Given the description of an element on the screen output the (x, y) to click on. 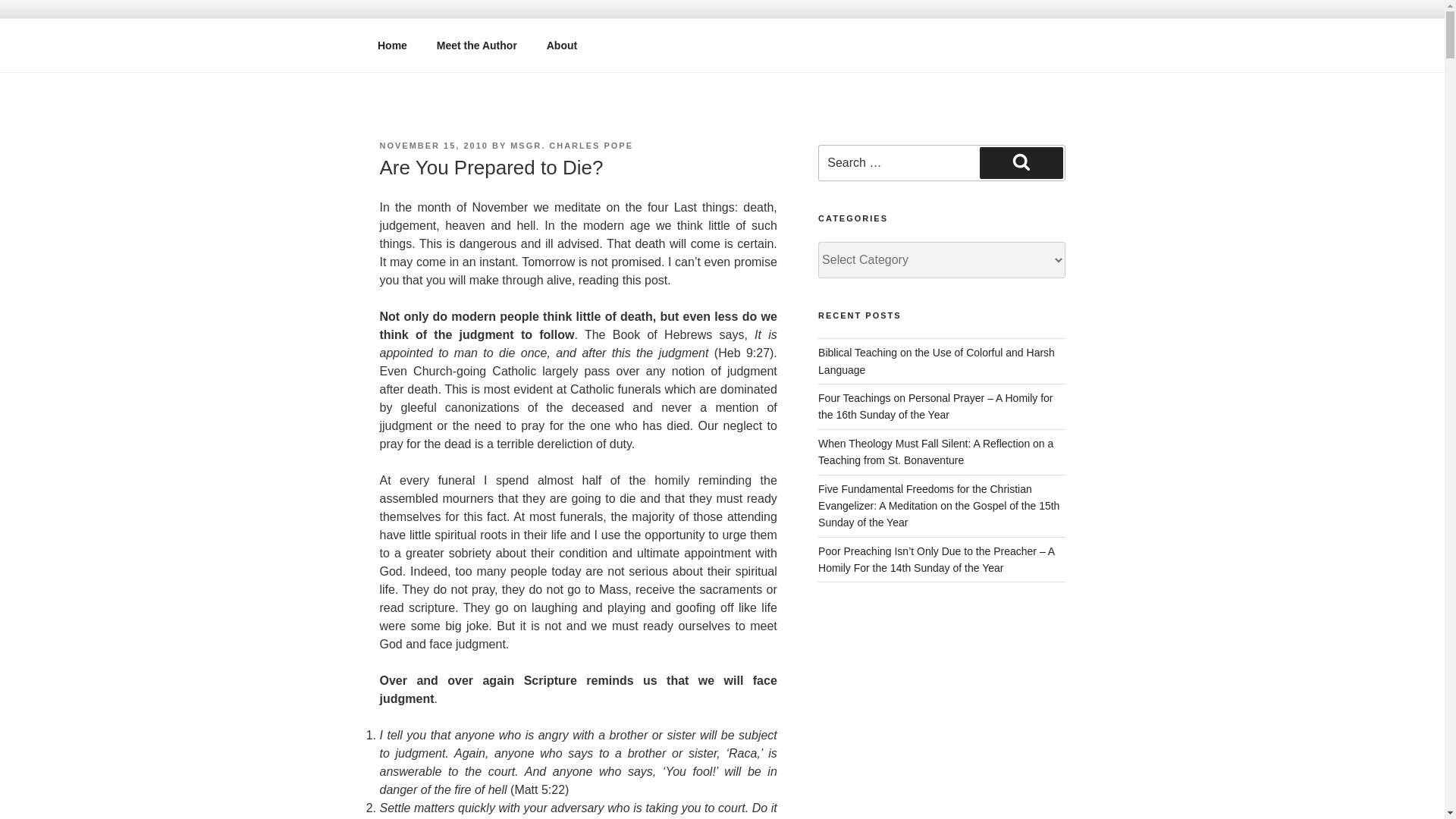
Home (392, 45)
About (560, 45)
NOVEMBER 15, 2010 (432, 144)
MSGR. CHARLES POPE (572, 144)
Meet the Author (476, 45)
COMMUNITY IN MISSION (563, 52)
